Given the description of an element on the screen output the (x, y) to click on. 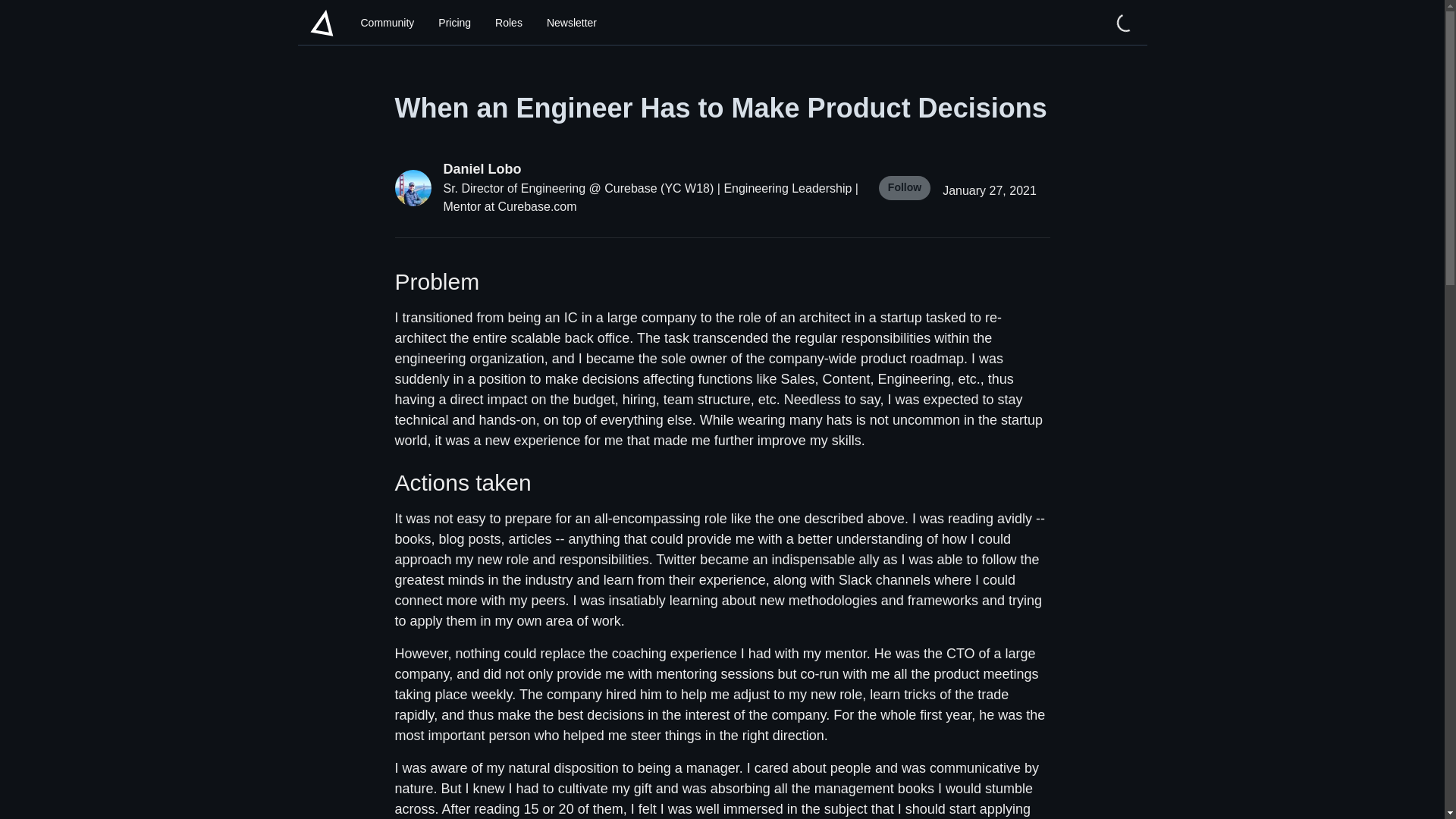
Newsletter (571, 22)
Roles (508, 22)
Pricing (454, 22)
Daniel Lobo (651, 168)
Community (387, 22)
Follow (904, 187)
